Given the description of an element on the screen output the (x, y) to click on. 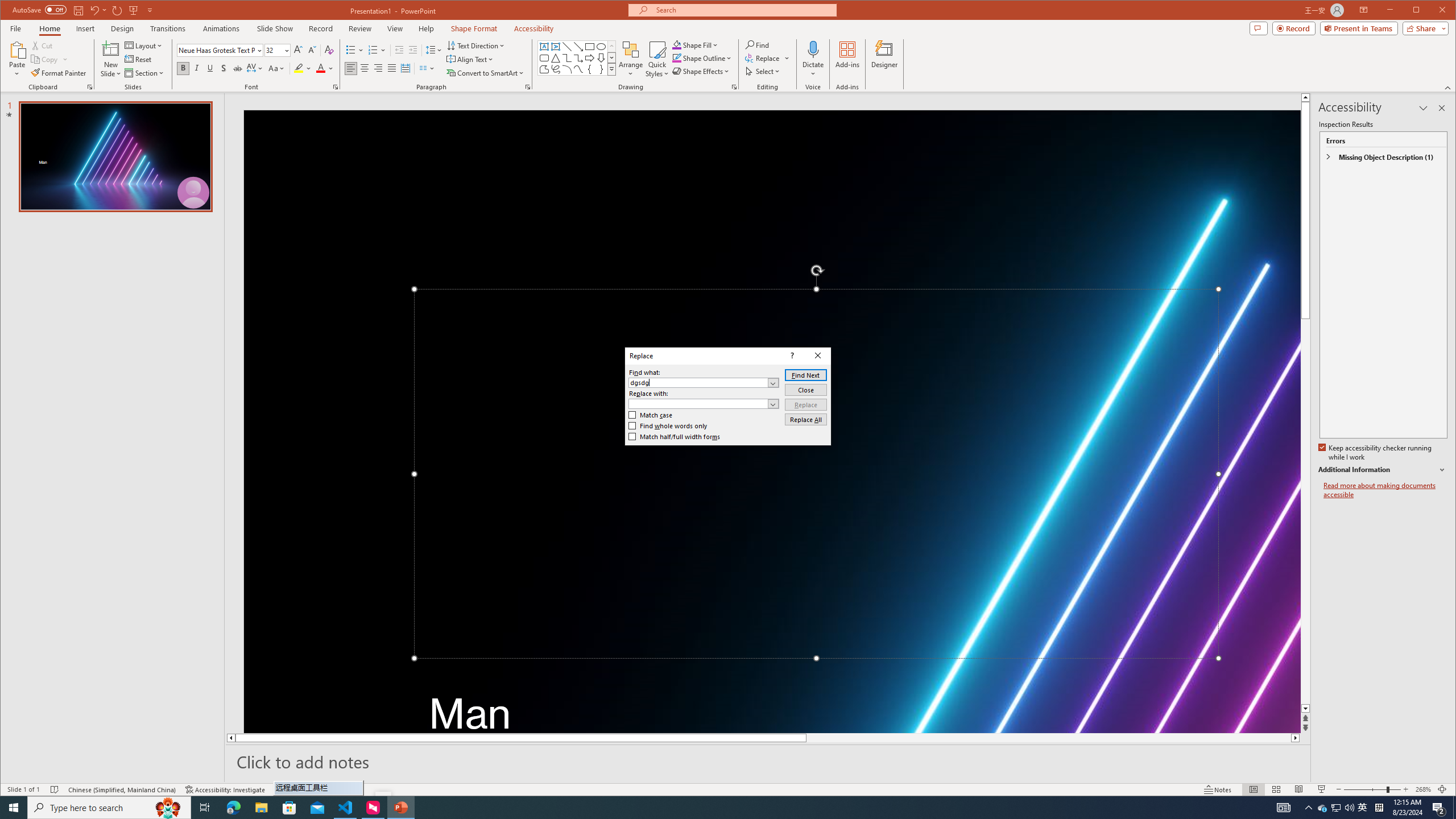
Find whole words only (667, 425)
Replace with (703, 403)
